Given the description of an element on the screen output the (x, y) to click on. 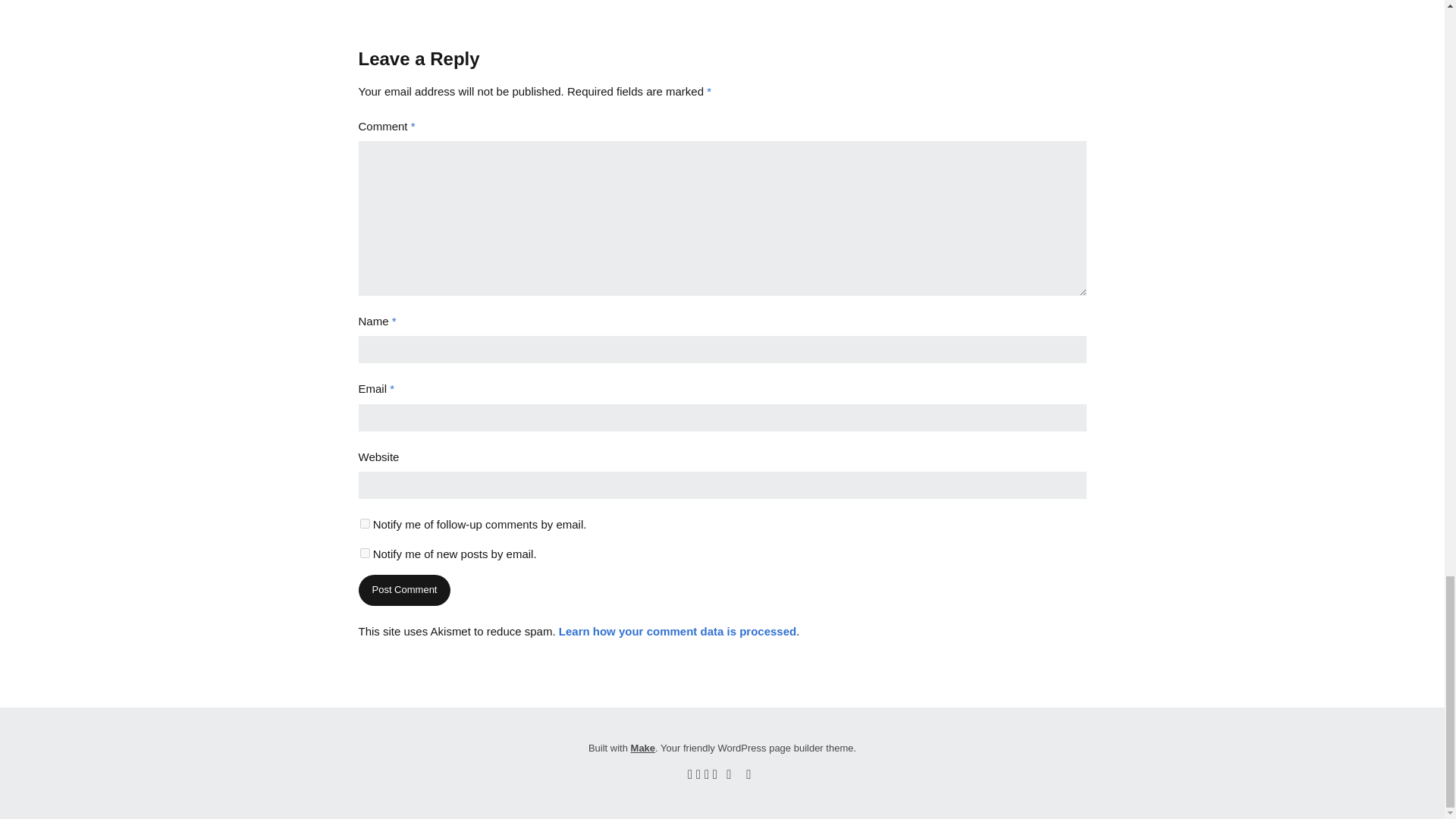
Post Comment (403, 590)
subscribe (364, 552)
subscribe (364, 523)
